Given the description of an element on the screen output the (x, y) to click on. 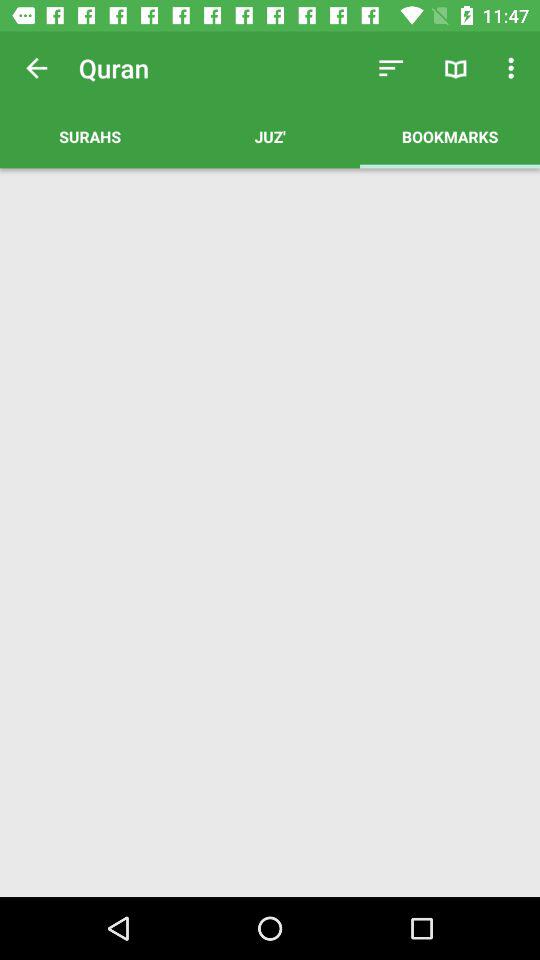
scroll until the bookmarks (450, 136)
